Given the description of an element on the screen output the (x, y) to click on. 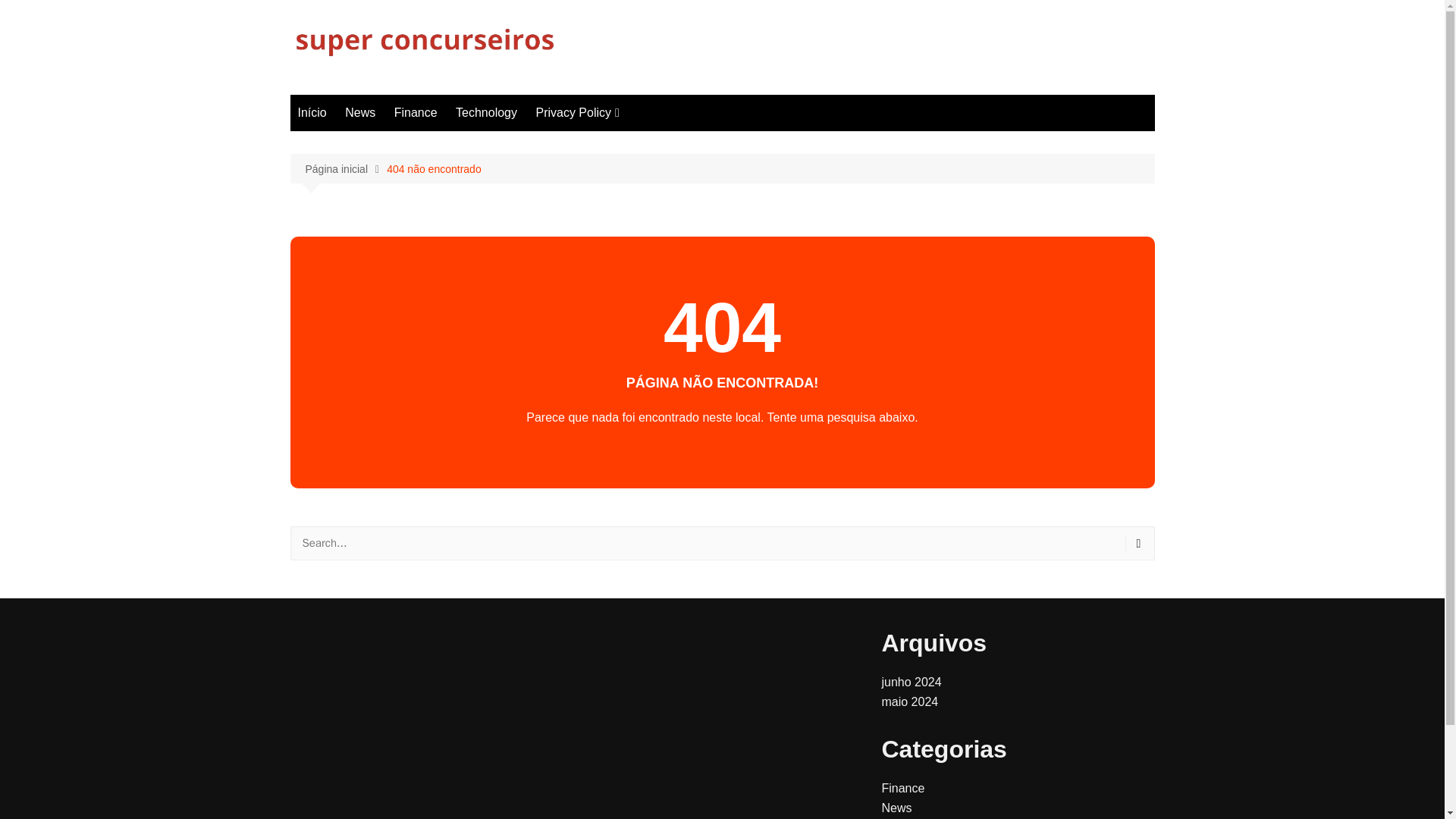
maio 2024 (908, 701)
News (359, 113)
Finance (902, 788)
Contact (610, 143)
junho 2024 (910, 681)
News (895, 807)
Technology (486, 113)
Finance (416, 113)
About Us (610, 168)
Privacy Policy (576, 113)
Terms of Service (610, 193)
